Given the description of an element on the screen output the (x, y) to click on. 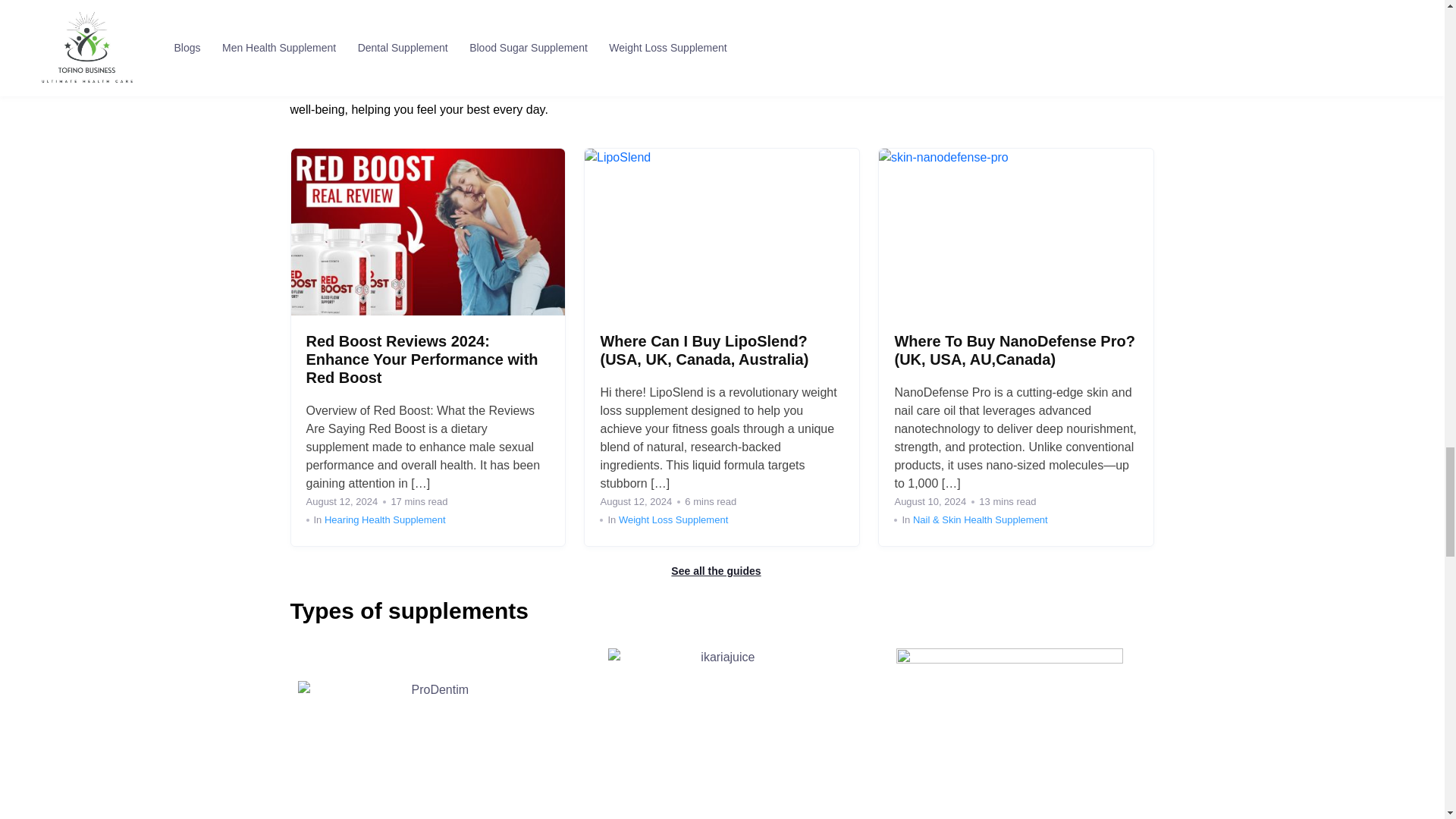
Hearing Health Supplement (384, 519)
Weight Loss Supplement (673, 519)
See all the guides (721, 571)
